Given the description of an element on the screen output the (x, y) to click on. 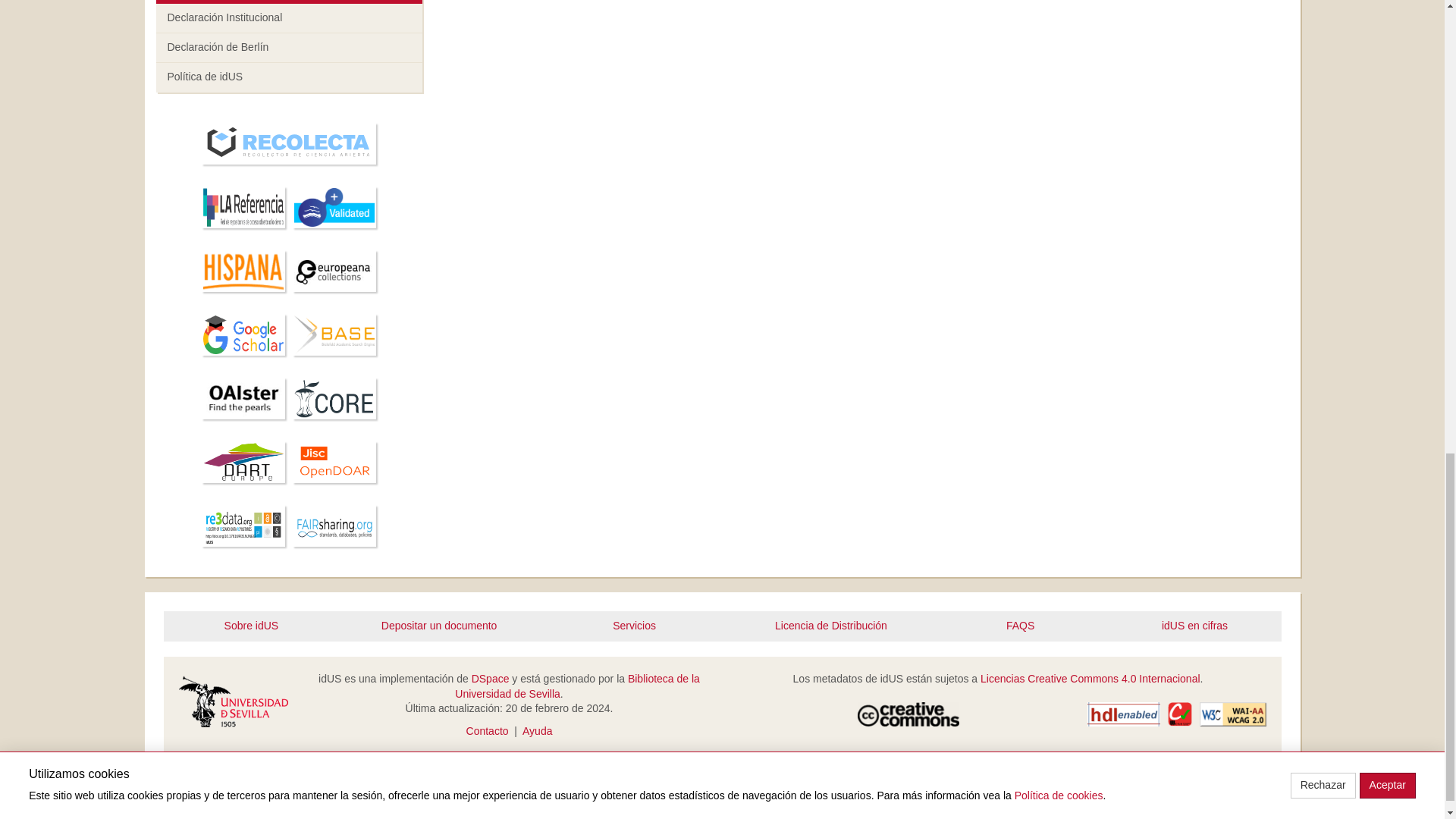
LA Referencia (243, 209)
OpenAIRE (334, 209)
Recolecta (289, 146)
